Given the description of an element on the screen output the (x, y) to click on. 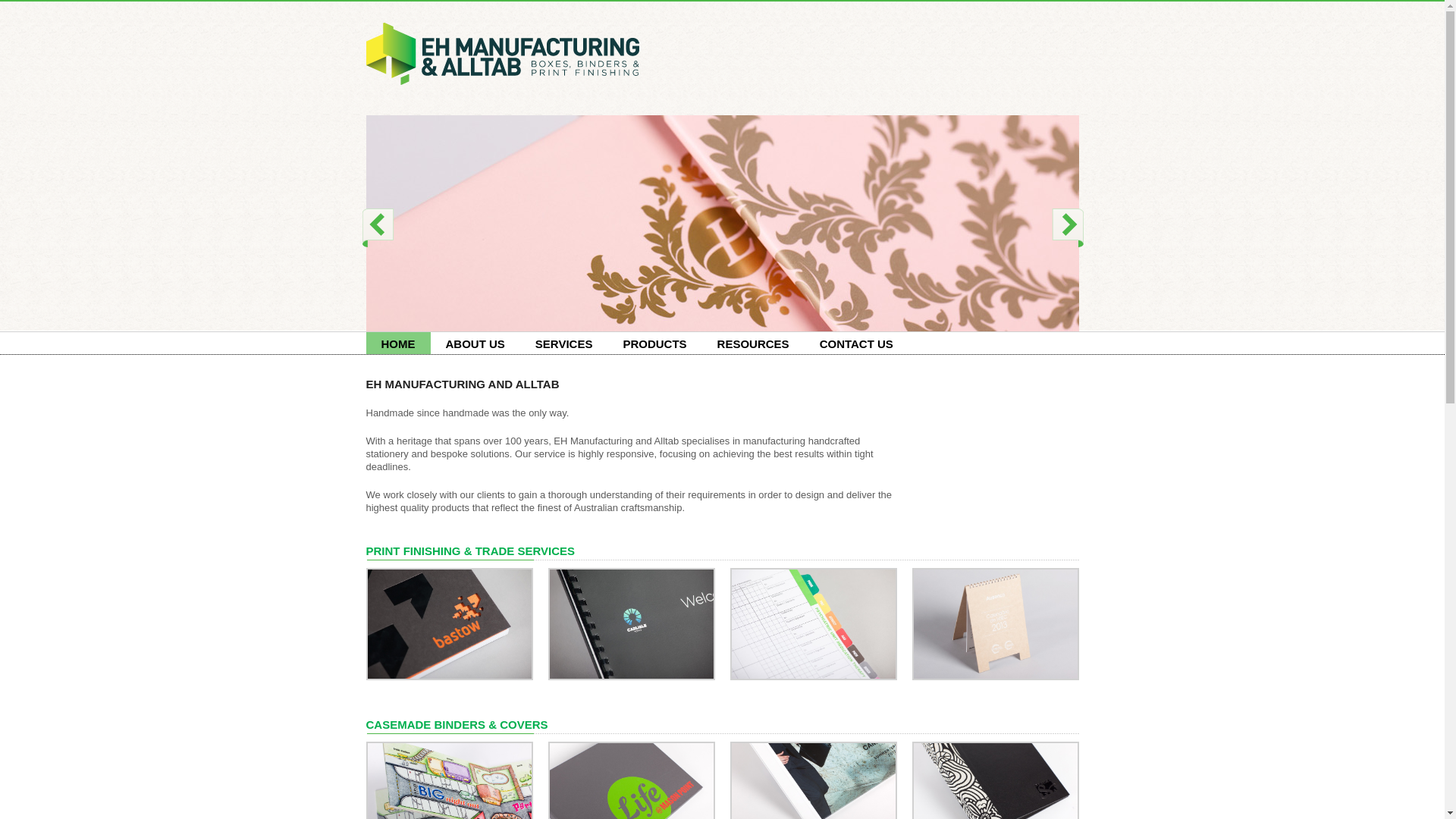
Custom Printed Binders (994, 797)
Plastic Comb Binding  (630, 622)
Casemade Cover (630, 797)
HOME (397, 342)
A Frame Twin Loop (994, 622)
SERVICES (563, 342)
Half Canadian Binding (448, 622)
CONTACT US (856, 342)
Game Board (448, 797)
RESOURCES (753, 342)
Re-enforced Spines on Tab Dividers, Hospital Sheets, etc. (812, 622)
PRODUCTS (654, 342)
Loose Leaf Book Covers (812, 797)
ABOUT US (474, 342)
Return to the EH Manufacturing and Alltab home page (502, 53)
